Given the description of an element on the screen output the (x, y) to click on. 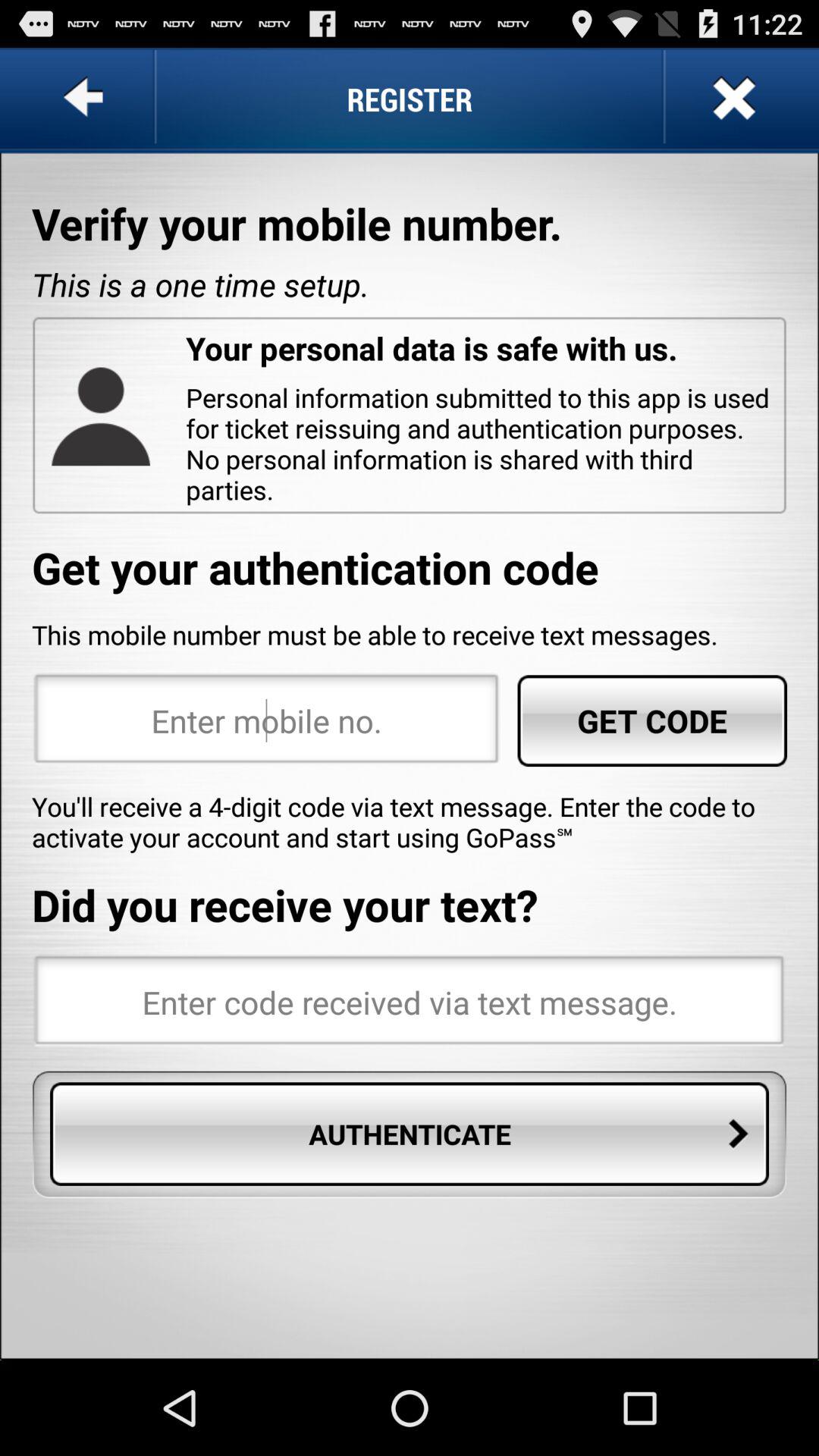
close out menu (732, 99)
